Given the description of an element on the screen output the (x, y) to click on. 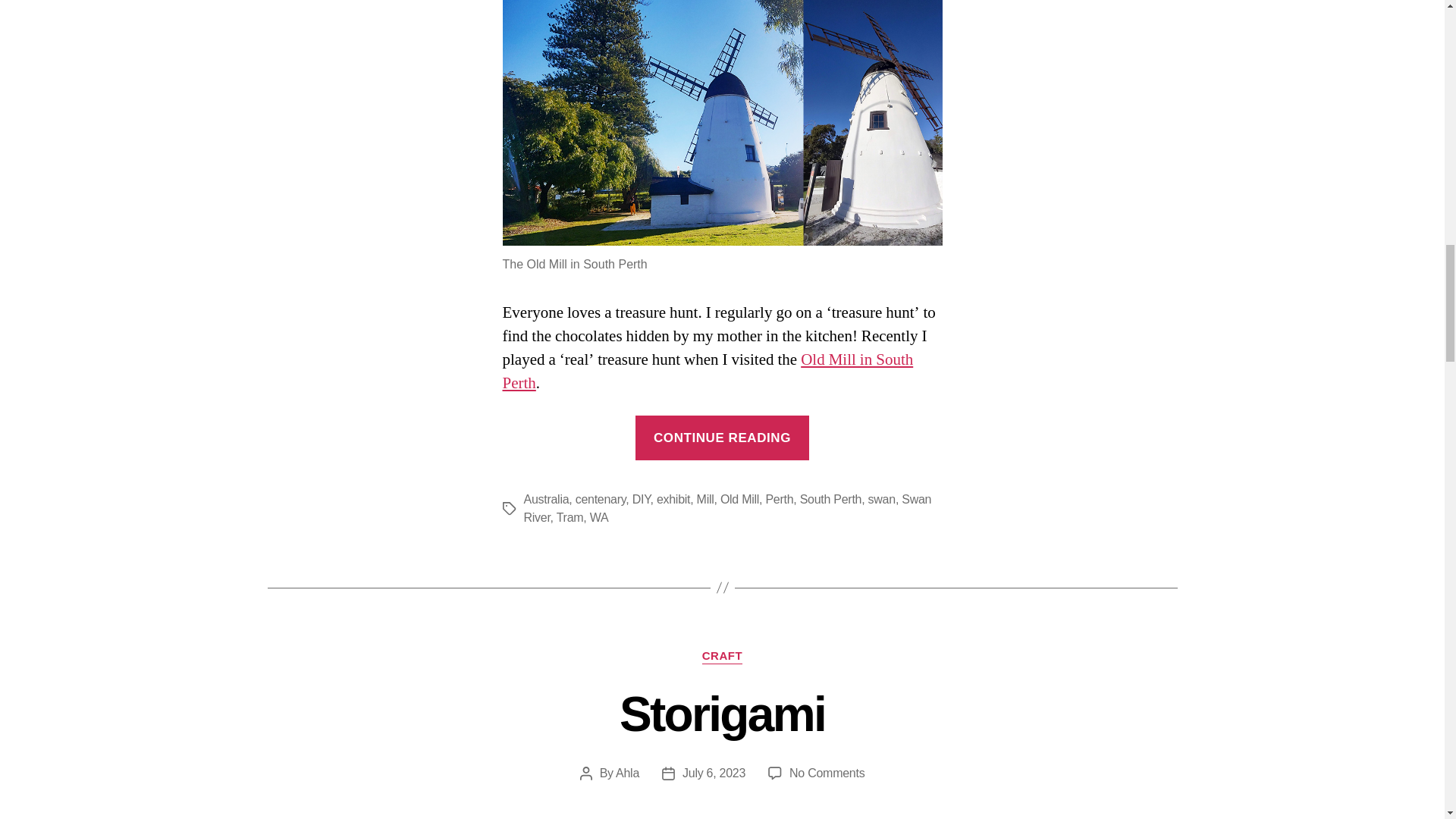
centenary (600, 499)
Old Mill in South Perth (707, 371)
Australia (545, 499)
